Given the description of an element on the screen output the (x, y) to click on. 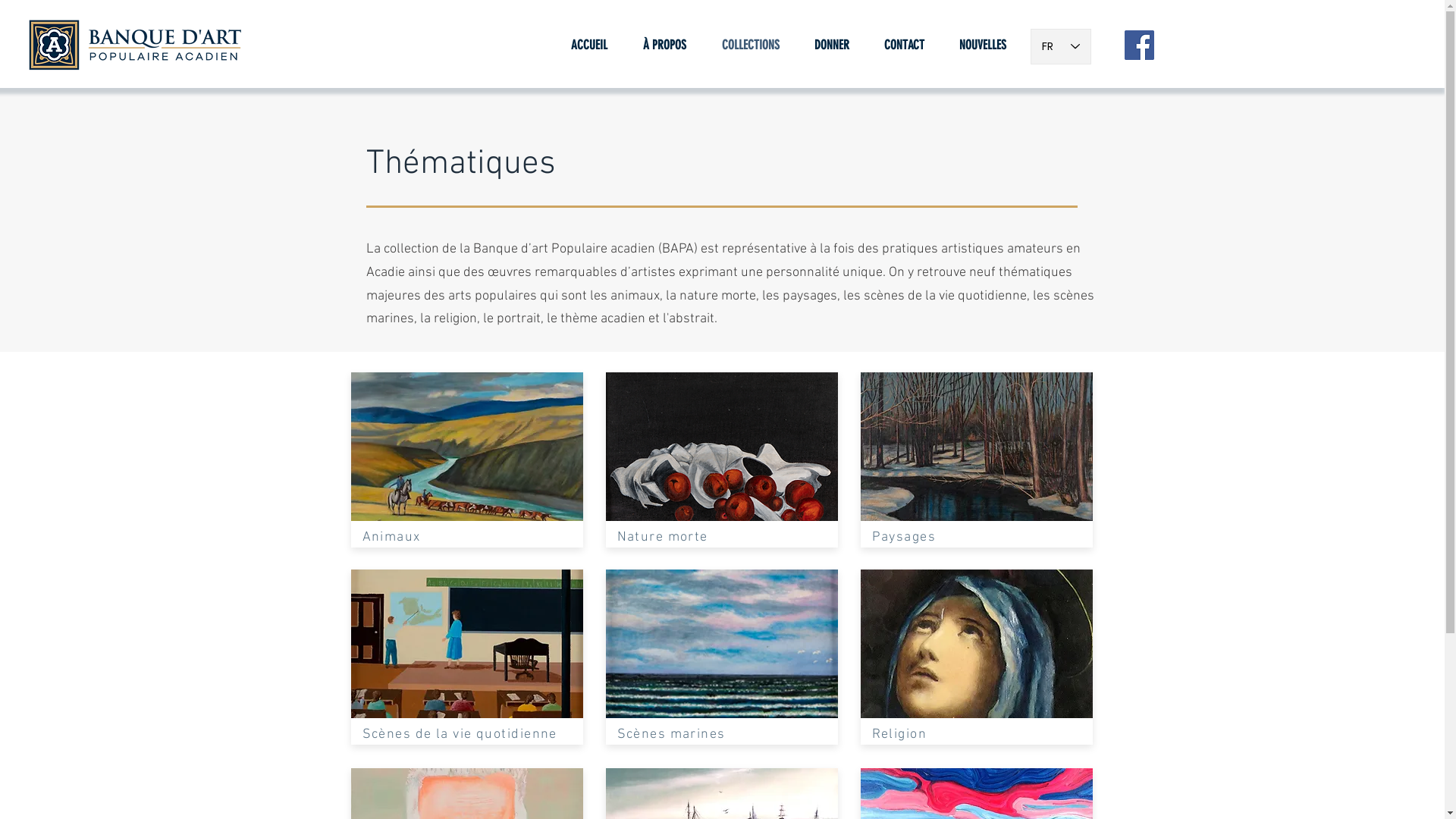
DONNER Element type: text (831, 45)
ACCUEIL Element type: text (589, 45)
COLLECTIONS Element type: text (749, 45)
NOUVELLES Element type: text (982, 45)
CONTACT Element type: text (903, 45)
